Given the description of an element on the screen output the (x, y) to click on. 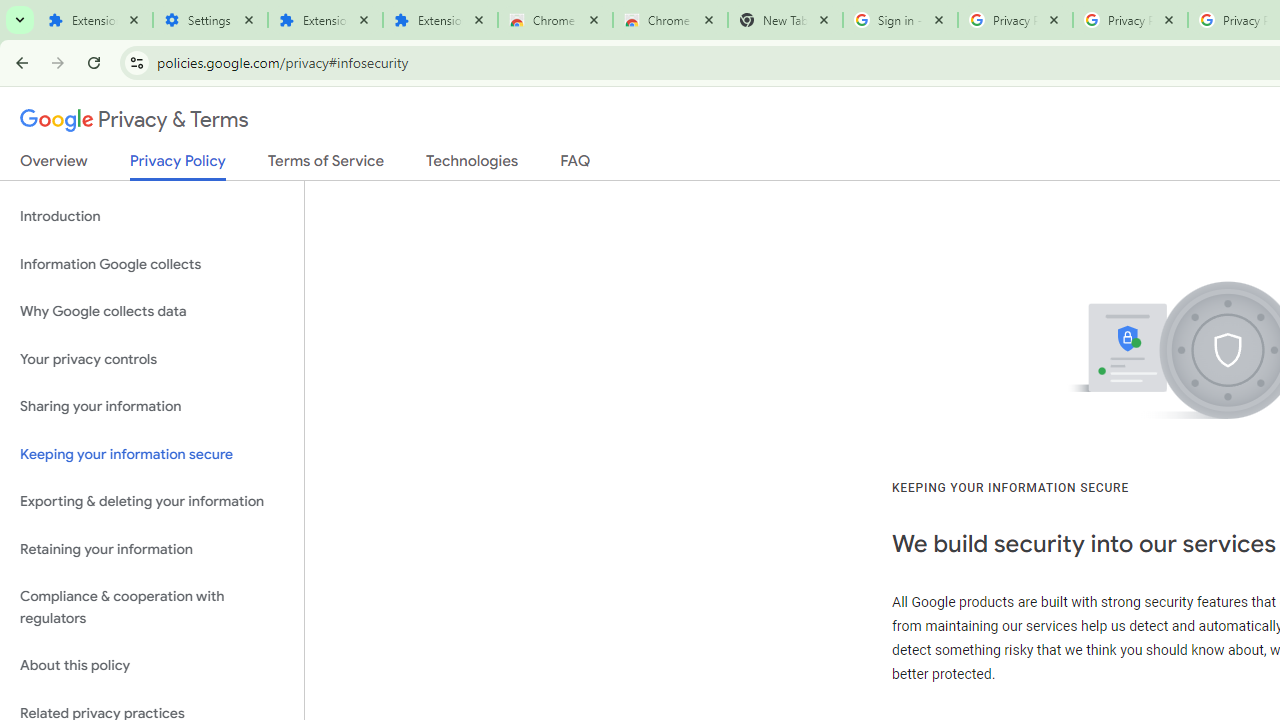
Settings (209, 20)
Privacy & Terms (134, 120)
Extensions (439, 20)
Overview (54, 165)
New Tab (785, 20)
Sign in - Google Accounts (900, 20)
Privacy Policy (177, 166)
Technologies (472, 165)
Chrome Web Store - Themes (670, 20)
